Given the description of an element on the screen output the (x, y) to click on. 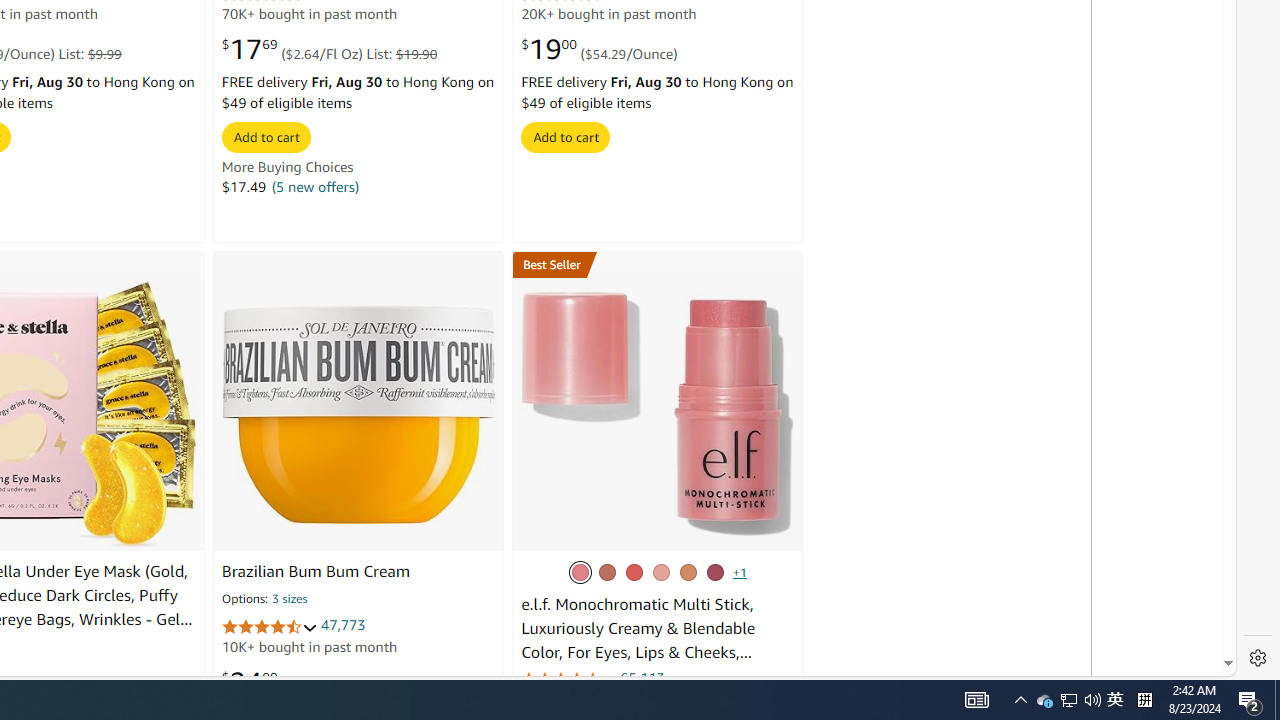
Dazzling Peony (579, 572)
4.3 out of 5 stars (569, 678)
Bronzed Cherry (606, 572)
$24.00 ( $9.45 /Fl Oz) (292, 681)
(5 new offers) (315, 186)
65,113 (642, 678)
SOL DE JANEIRO Brazilian Bum Bum Cream (358, 413)
